Given the description of an element on the screen output the (x, y) to click on. 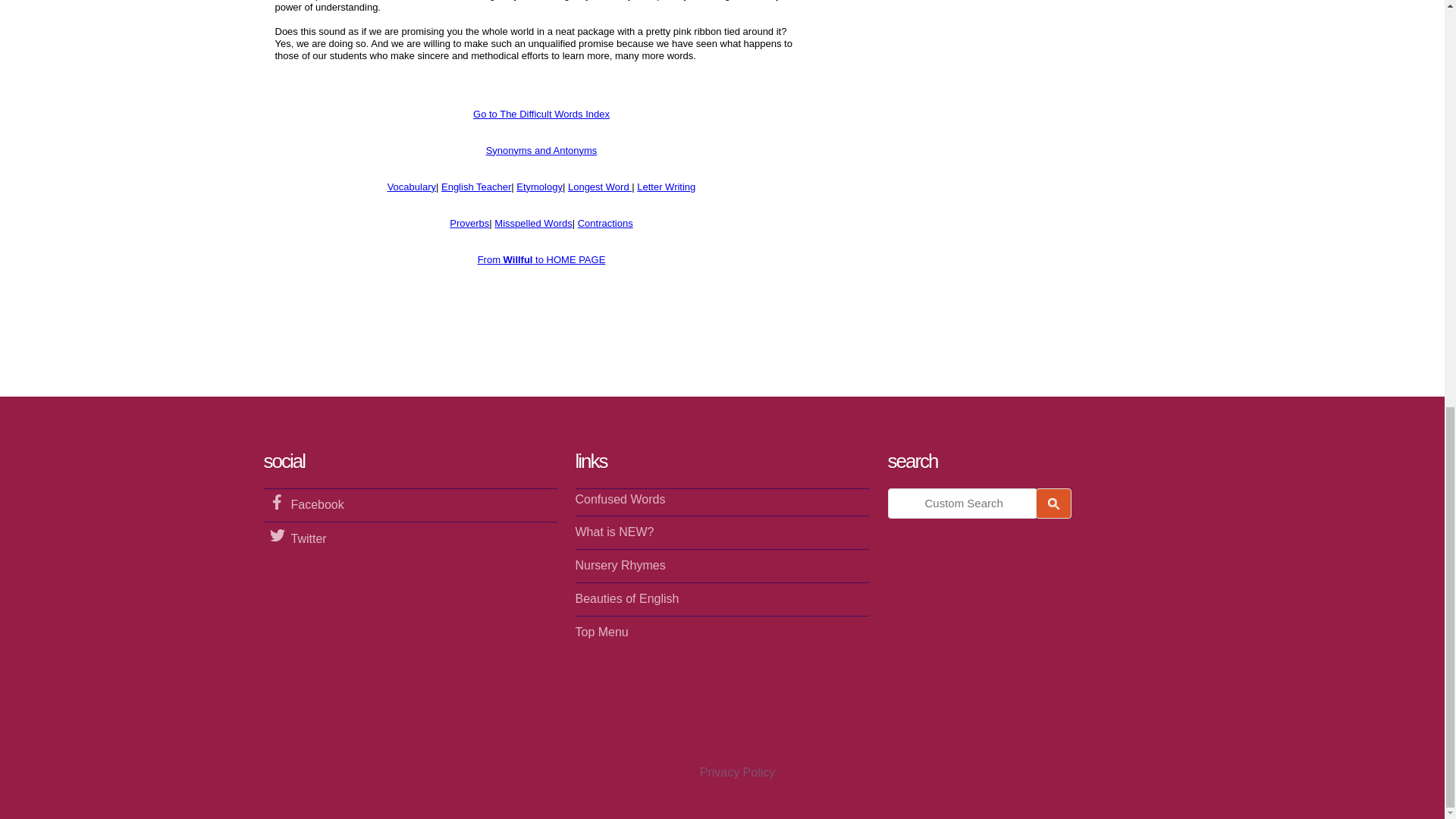
Go to The Difficult Words Index (541, 113)
English Teacher (476, 186)
search (962, 502)
Proverbs (469, 223)
Synonyms and Antonyms (541, 150)
Letter Writing (666, 186)
Etymology (539, 186)
search (1053, 502)
Longest Word (599, 186)
Vocabulary (411, 186)
